Given the description of an element on the screen output the (x, y) to click on. 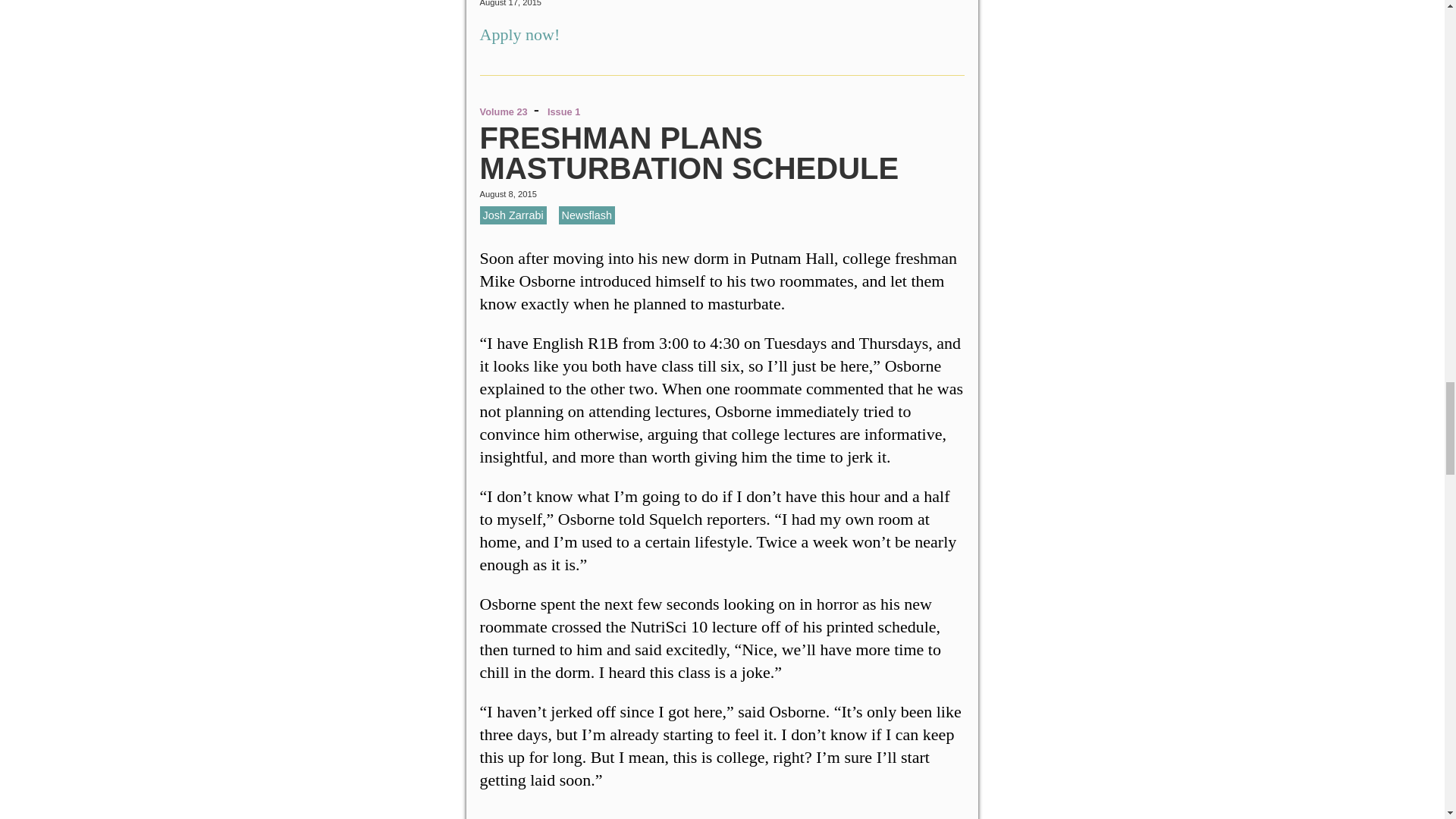
Josh Zarrabi (513, 215)
Apply now!  (522, 34)
Freshman Plans Masturbation Schedule (689, 153)
Volume 23 (503, 111)
FRESHMAN PLANS MASTURBATION SCHEDULE (689, 153)
Newsflash (586, 215)
Issue 1 (563, 111)
